Given the description of an element on the screen output the (x, y) to click on. 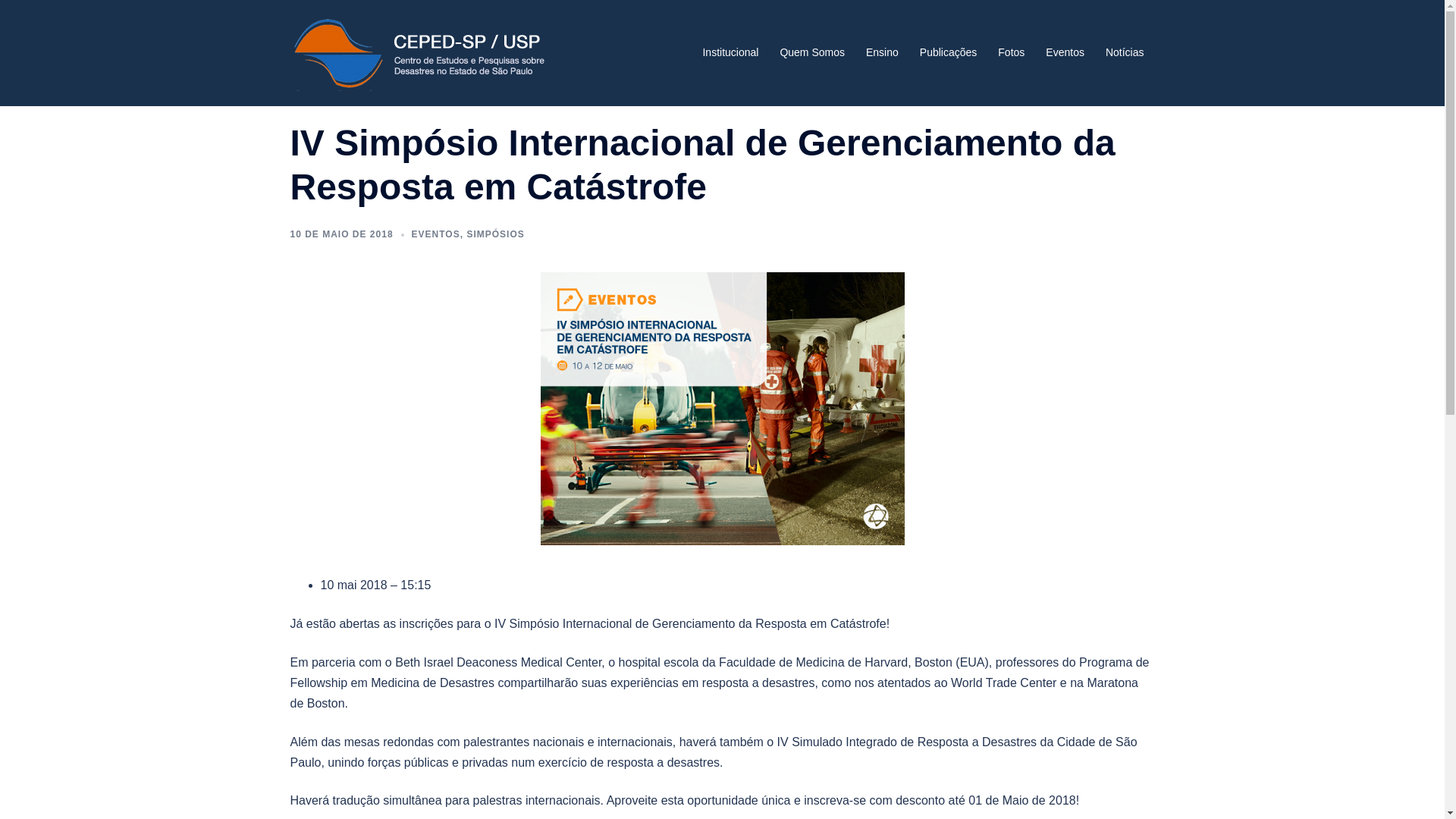
EVENTOS Element type: text (435, 234)
Ensino Element type: text (882, 52)
Quem Somos Element type: text (811, 52)
Institucional Element type: text (730, 52)
CEPED-SP / USP Element type: hover (419, 51)
Eventos Element type: text (1064, 52)
Fotos Element type: text (1010, 52)
10 DE MAIO DE 2018 Element type: text (340, 234)
